Given the description of an element on the screen output the (x, y) to click on. 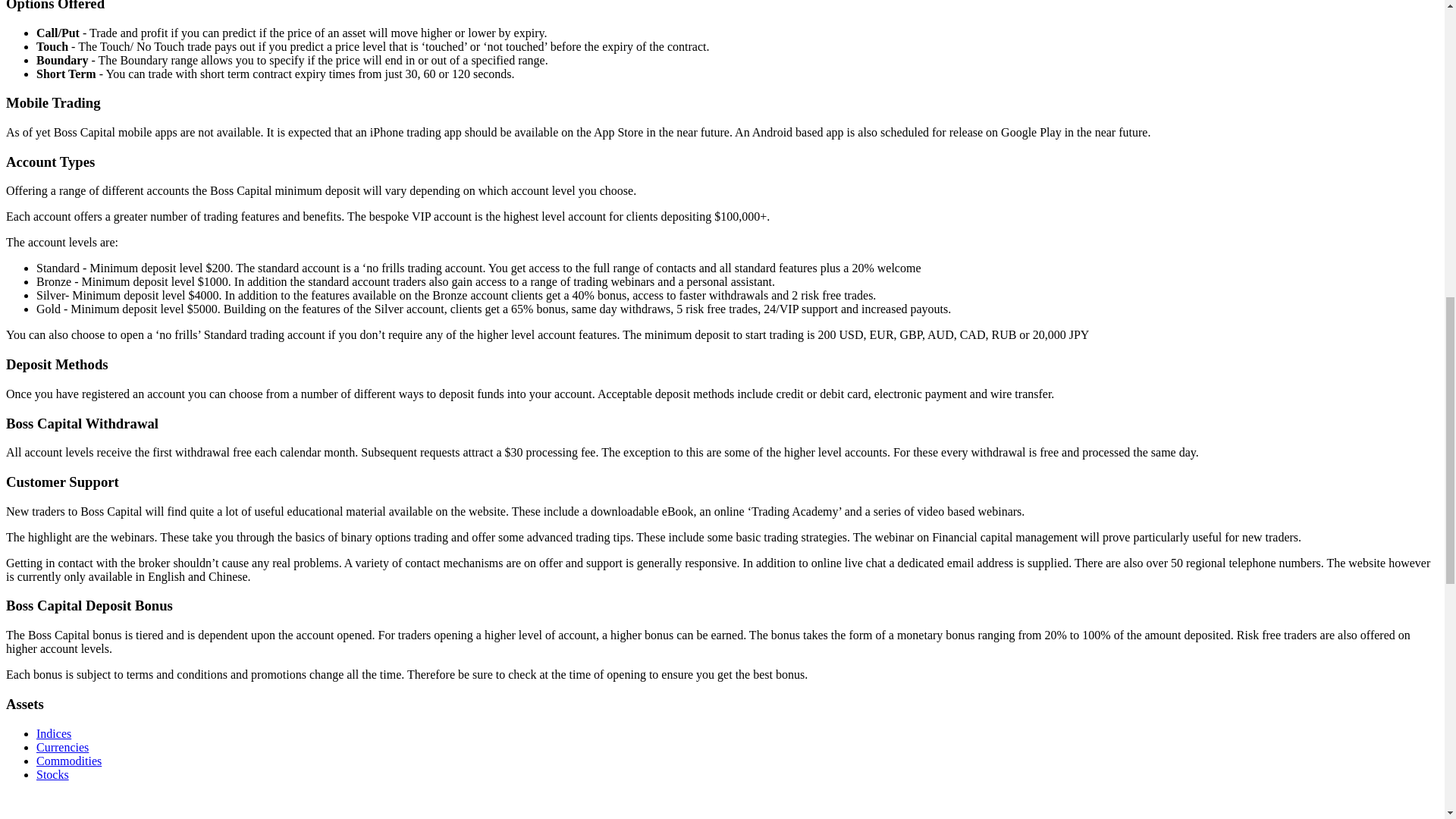
Stocks (52, 774)
Indices (53, 733)
Currencies (62, 747)
Commodities (68, 760)
